Given the description of an element on the screen output the (x, y) to click on. 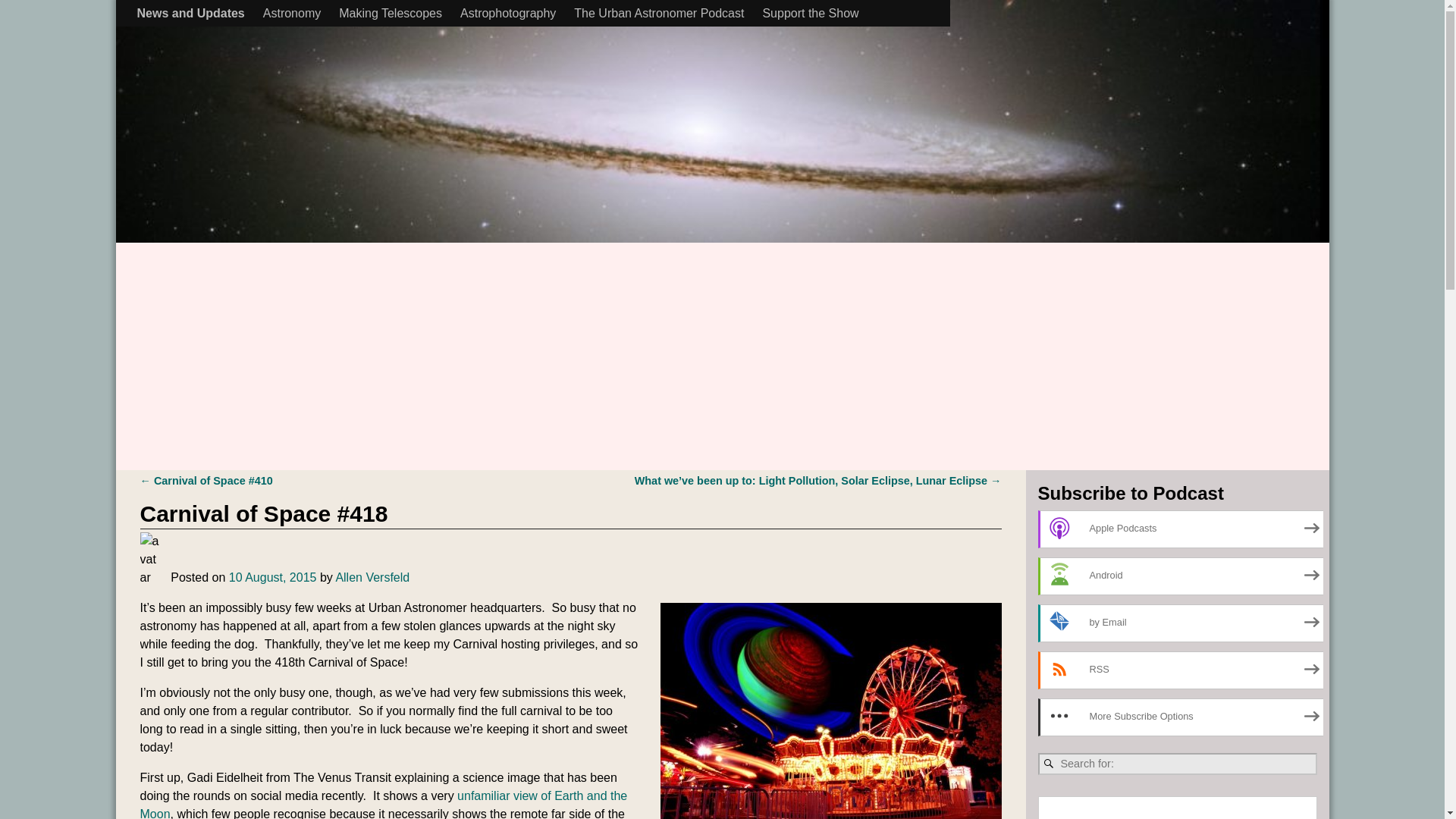
Moon passing earth (383, 804)
Astronomy (291, 13)
unfamiliar view of Earth and the Moon (383, 804)
Astrophotography (507, 13)
The Urban Astronomer Podcast (658, 13)
Subscribe by Email (1181, 623)
Urban Astronomer (287, 15)
10 August, 2015 (272, 576)
Allen Versfeld (371, 576)
Subscribe on Apple Podcasts (1181, 528)
